Given the description of an element on the screen output the (x, y) to click on. 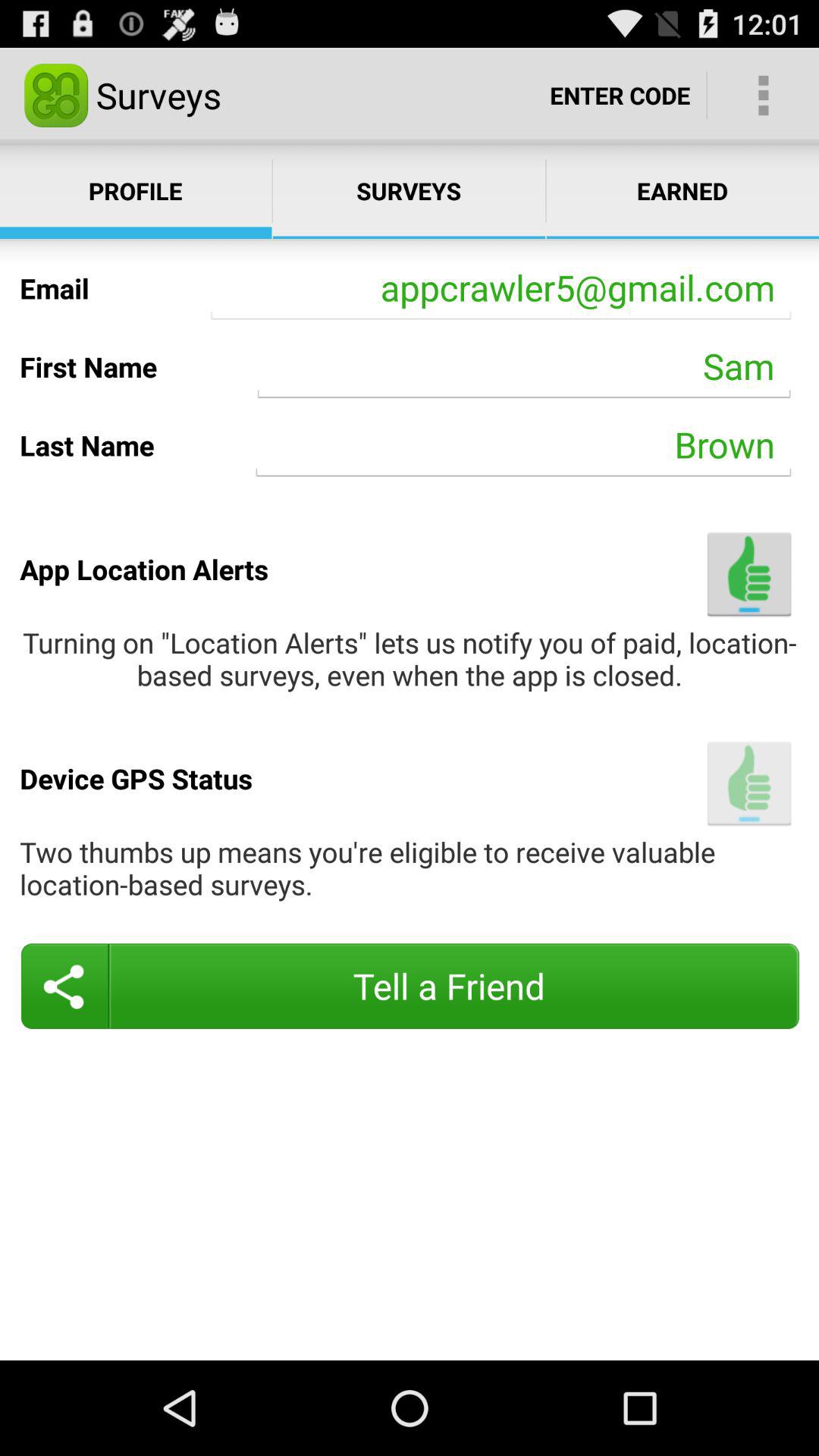
launch item below turning on location (749, 783)
